Given the description of an element on the screen output the (x, y) to click on. 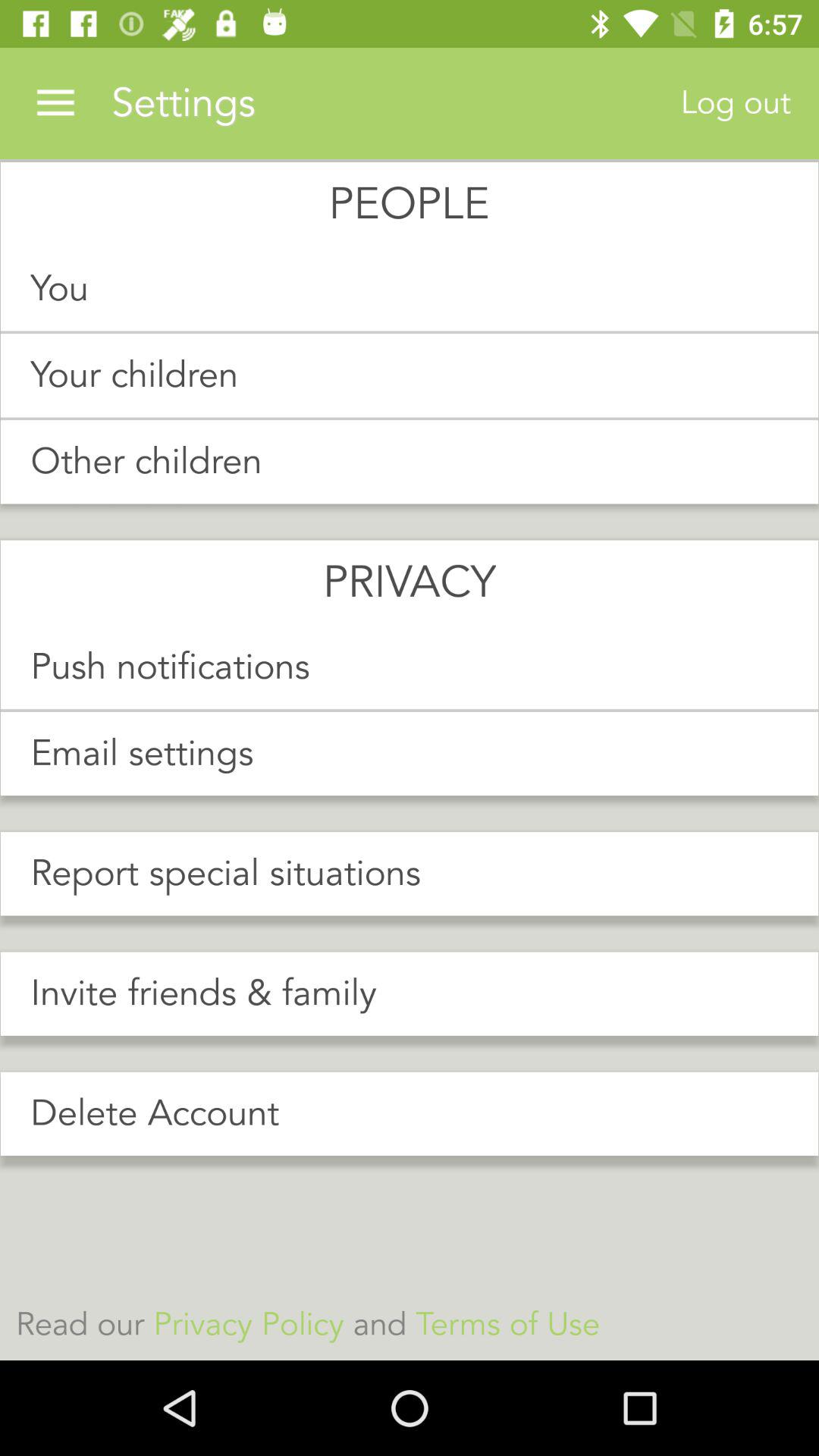
click item above read our privacy (409, 1113)
